Given the description of an element on the screen output the (x, y) to click on. 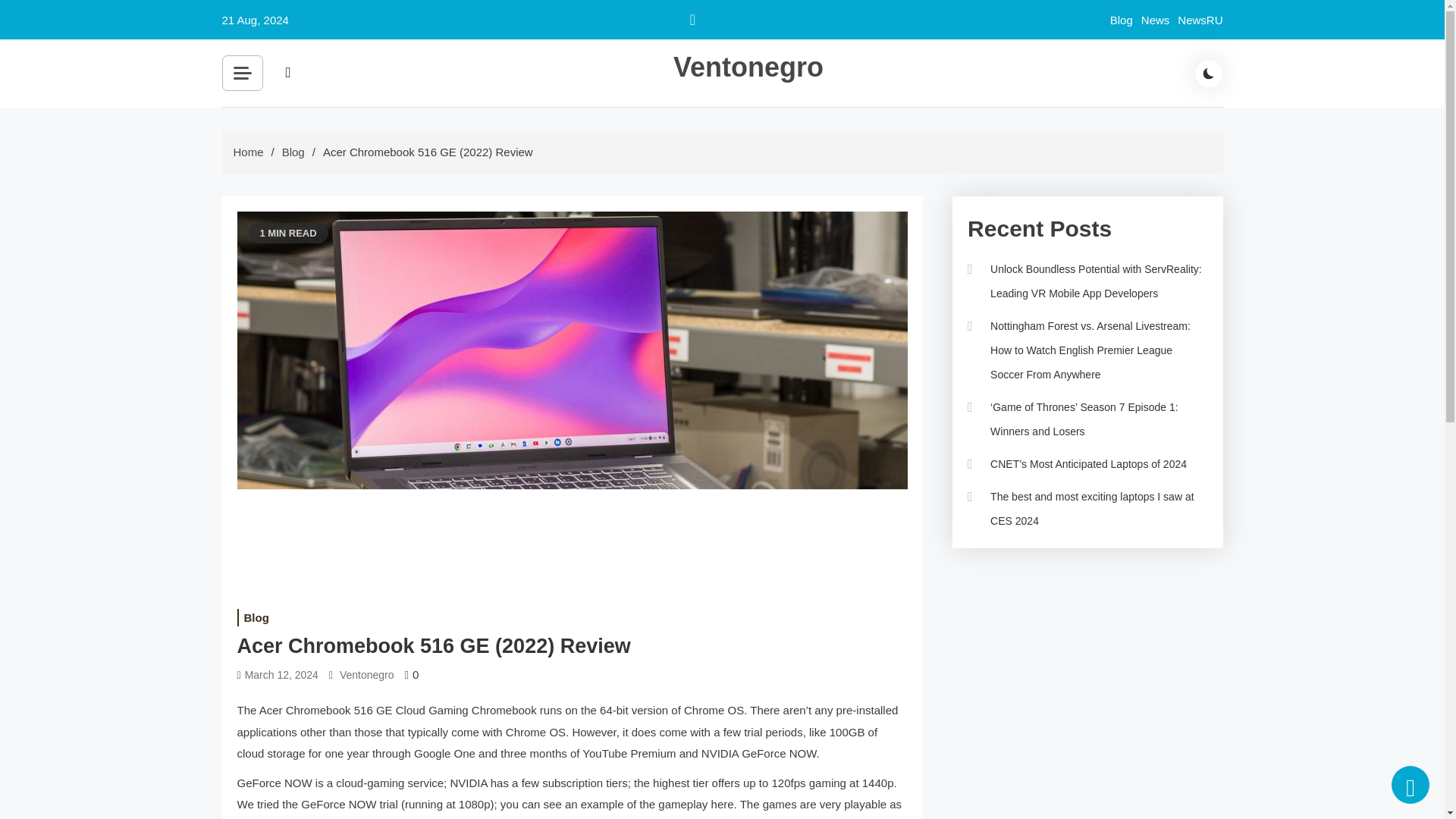
News (1155, 19)
Home (247, 151)
Blog (1120, 19)
Ventonegro (366, 674)
Ventonegro (748, 66)
Blog (293, 151)
Blog (255, 617)
site mode button (1209, 72)
March 12, 2024 (281, 674)
